Given the description of an element on the screen output the (x, y) to click on. 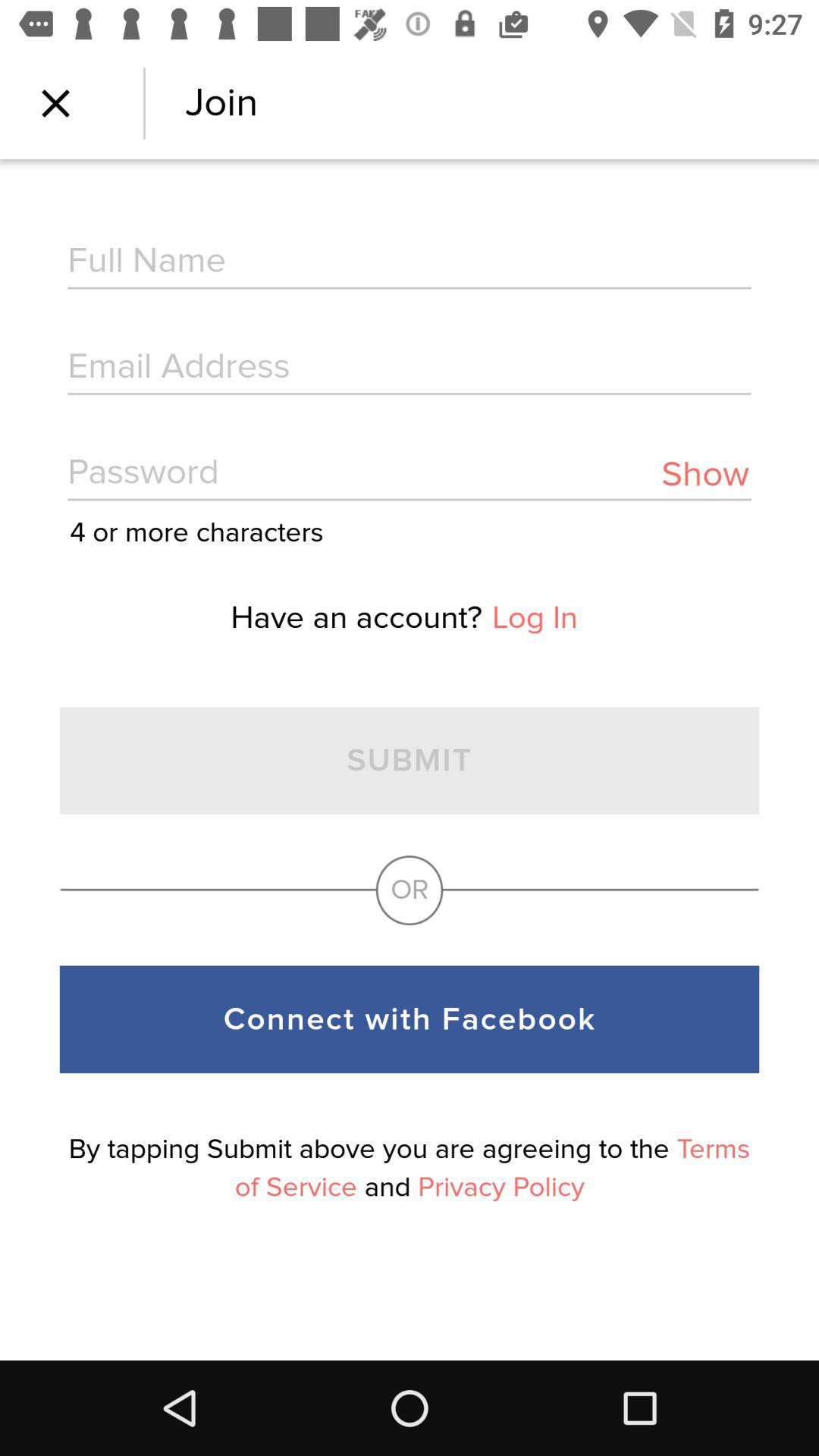
full name field (409, 262)
